Given the description of an element on the screen output the (x, y) to click on. 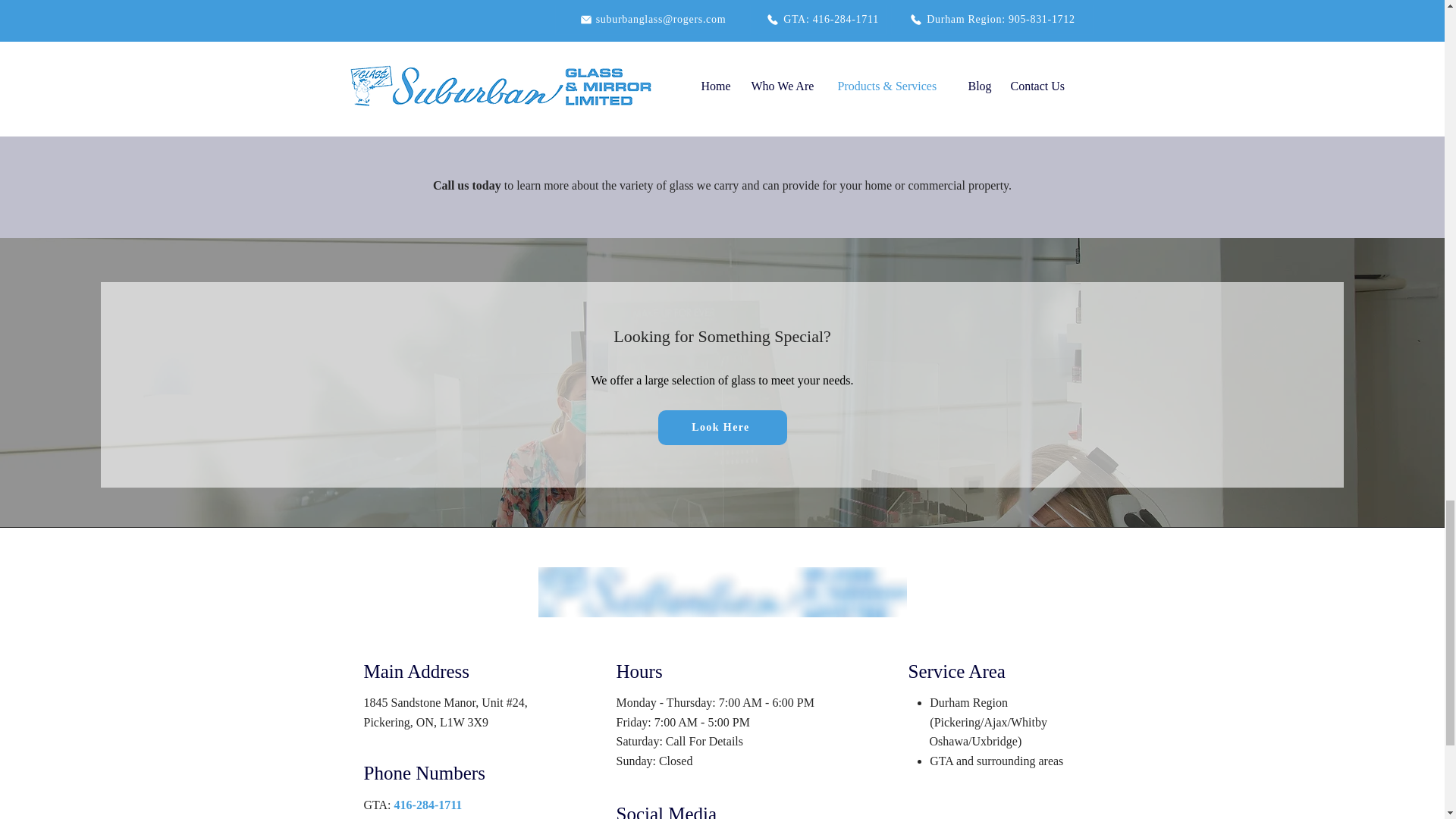
Call us today (466, 185)
416-284-1711 (428, 804)
Look Here (722, 426)
